Given the description of an element on the screen output the (x, y) to click on. 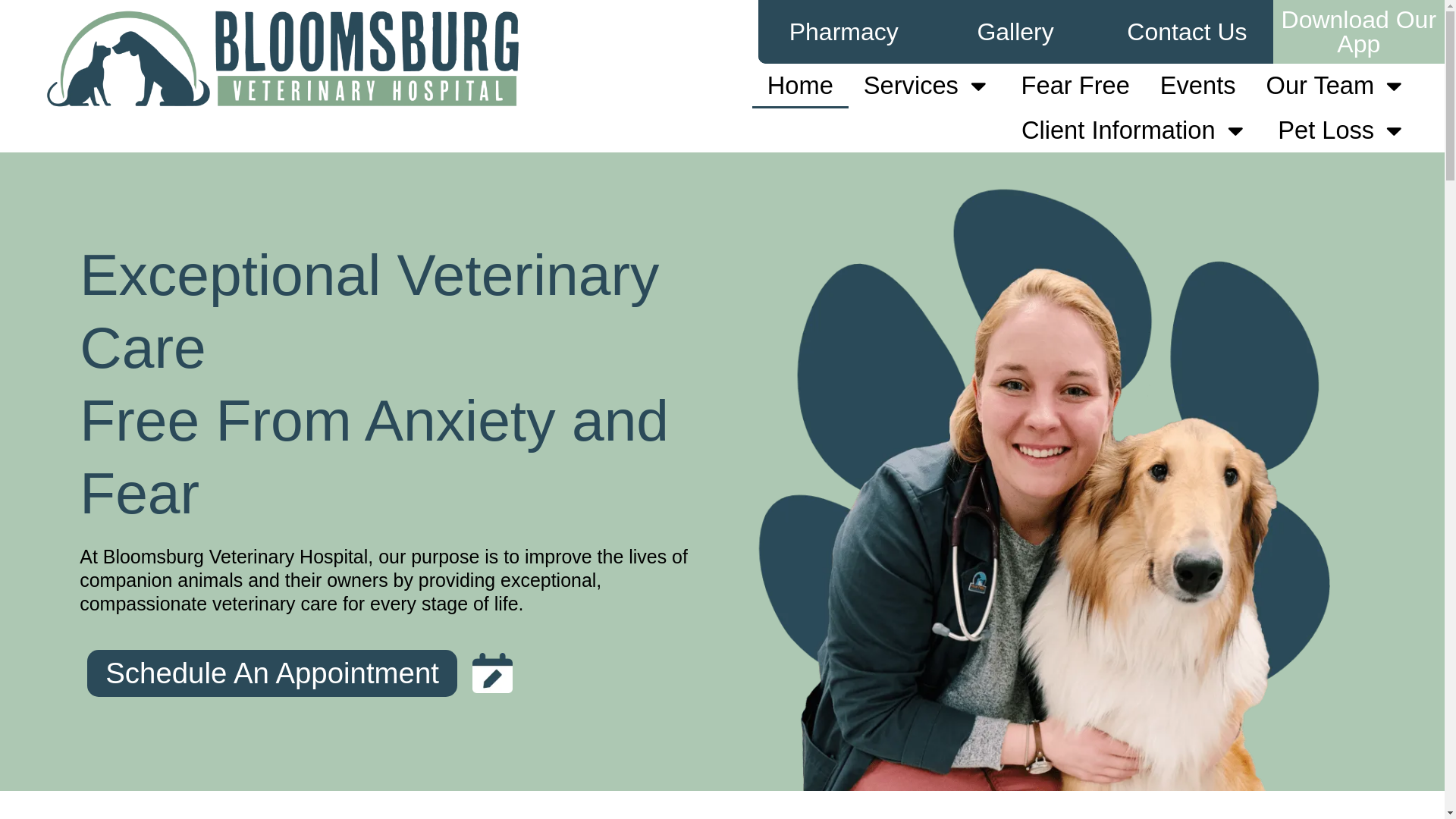
Our Team (1336, 85)
Services (927, 85)
Fear Free (1075, 85)
Events (1197, 85)
Client Information (1134, 130)
Home (800, 85)
Pet Loss (1342, 130)
